Given the description of an element on the screen output the (x, y) to click on. 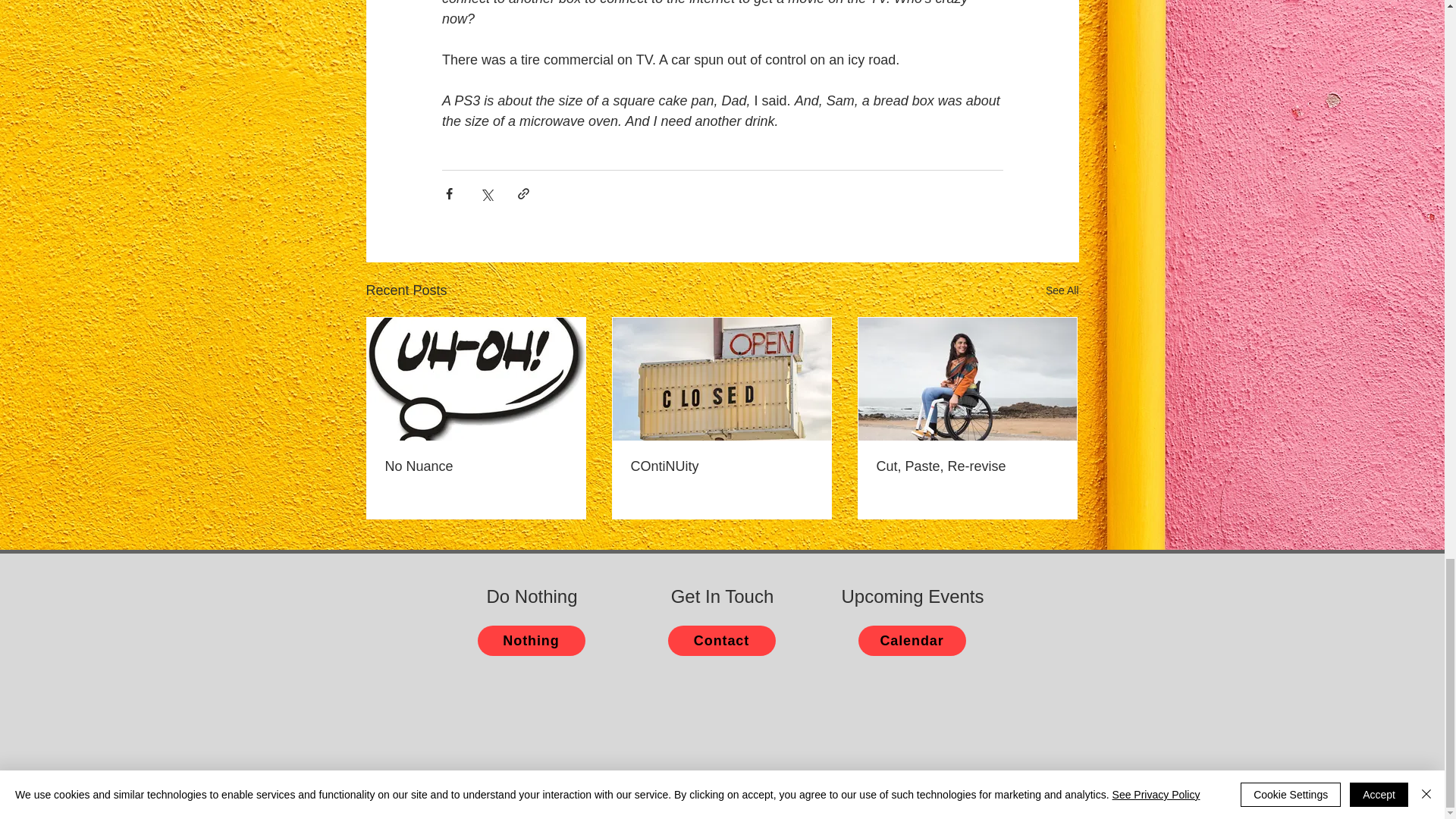
Contact (720, 640)
See All (1061, 291)
Nothing (531, 640)
COntiNUity (721, 466)
No Nuance (476, 466)
Calendar (912, 640)
Cut, Paste, Re-revise (967, 466)
